Given the description of an element on the screen output the (x, y) to click on. 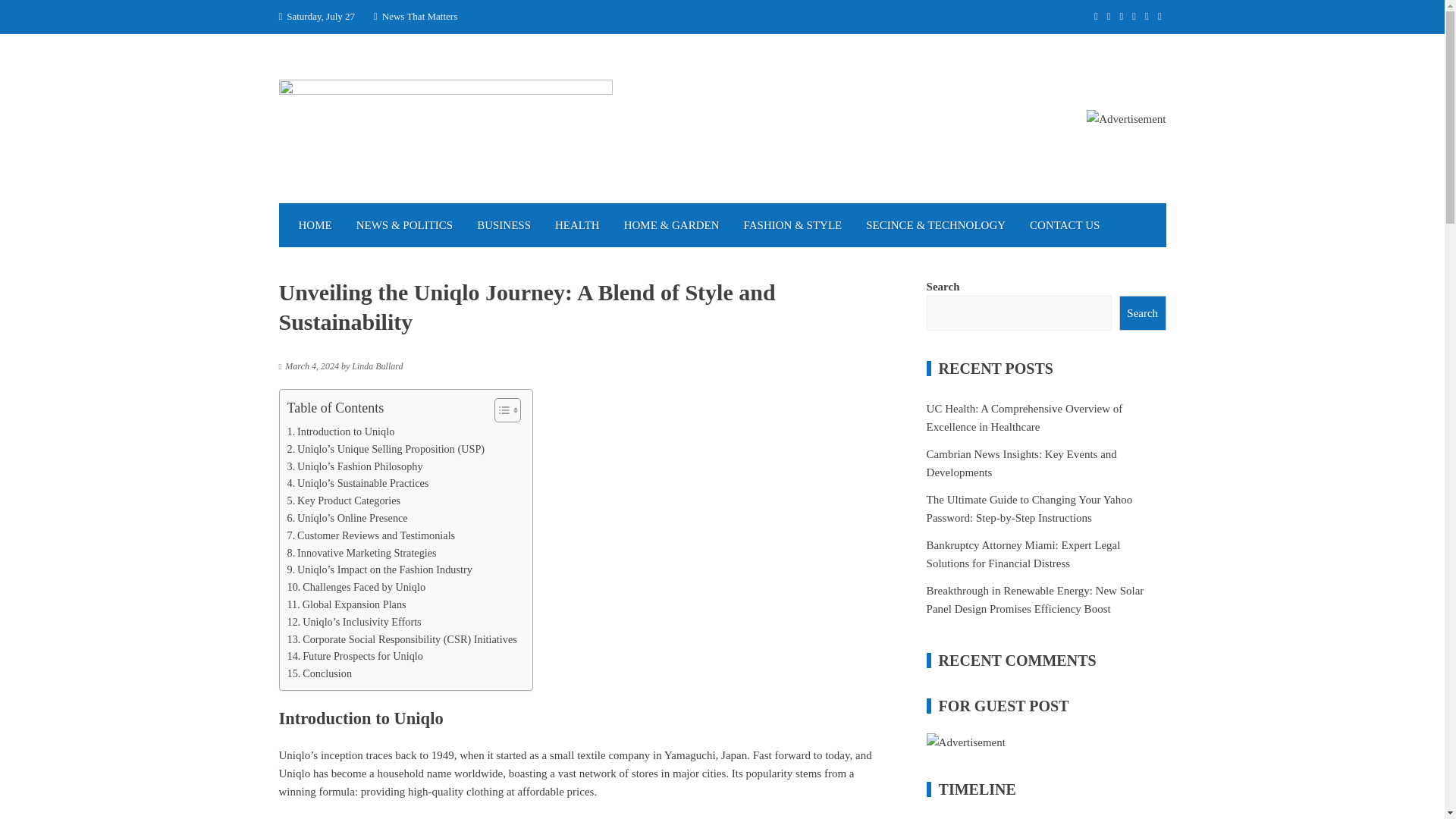
Future Prospects for Uniqlo (354, 656)
Introduction to Uniqlo (340, 431)
Challenges Faced by Uniqlo (355, 587)
Innovative Marketing Strategies (360, 552)
Key Product Categories (343, 500)
Customer Reviews and Testimonials (370, 535)
BUSINESS (503, 225)
Global Expansion Plans (346, 604)
HOME (314, 225)
HEALTH (577, 225)
